Given the description of an element on the screen output the (x, y) to click on. 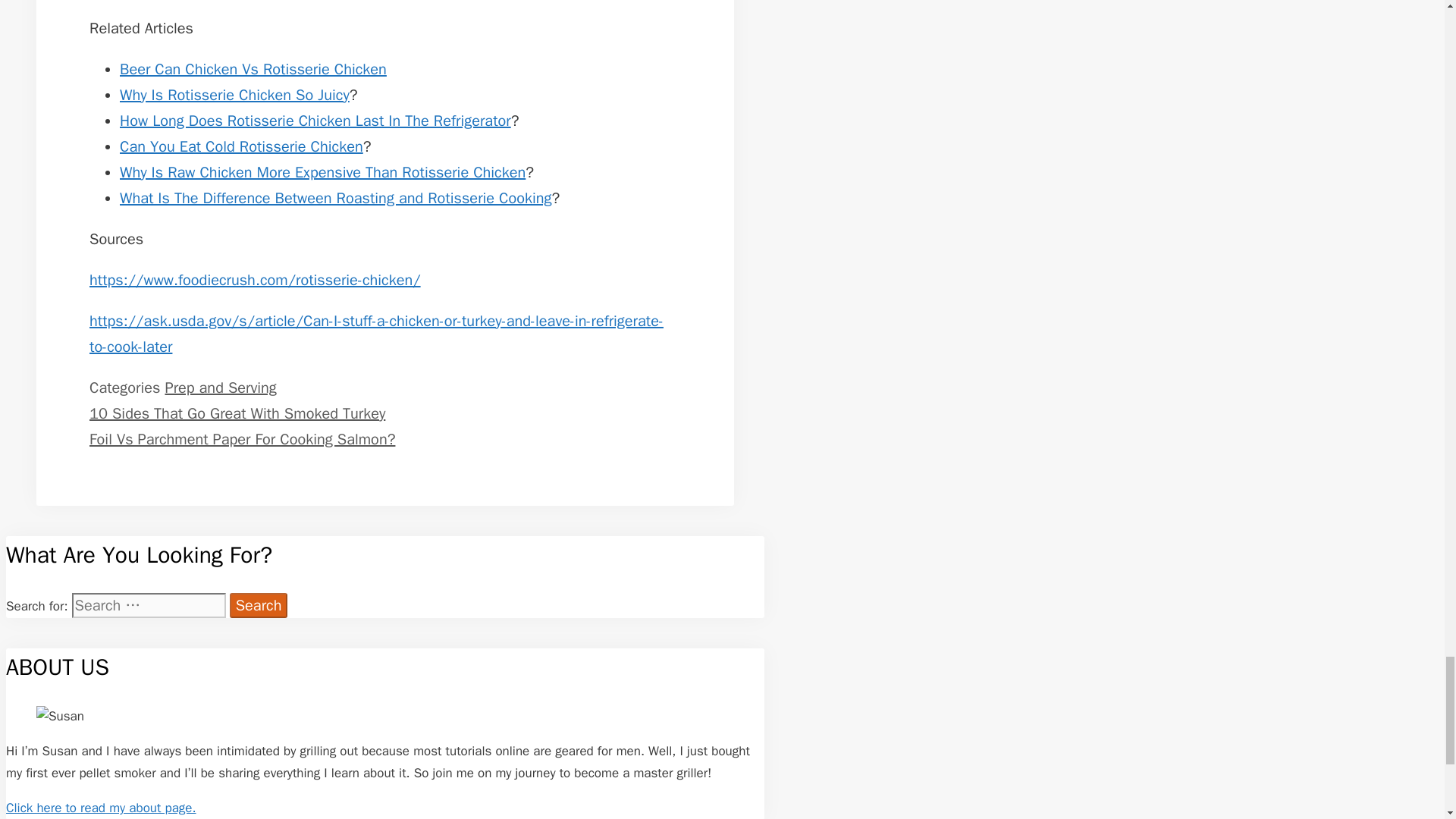
Why Is Rotisserie Chicken So Juicy (234, 94)
Search (259, 605)
Why Is Raw Chicken More Expensive Than Rotisserie Chicken (322, 171)
Click here to read my about page. (100, 807)
10 Sides That Go Great With Smoked Turkey (236, 413)
How Long Does Rotisserie Chicken Last In The Refrigerator (315, 120)
Can You Eat Cold Rotisserie Chicken (240, 146)
Foil Vs Parchment Paper For Cooking Salmon? (241, 438)
Search (259, 605)
Search for: (148, 605)
Beer Can Chicken Vs Rotisserie Chicken (253, 68)
Search (259, 605)
Prep and Serving (220, 387)
